Given the description of an element on the screen output the (x, y) to click on. 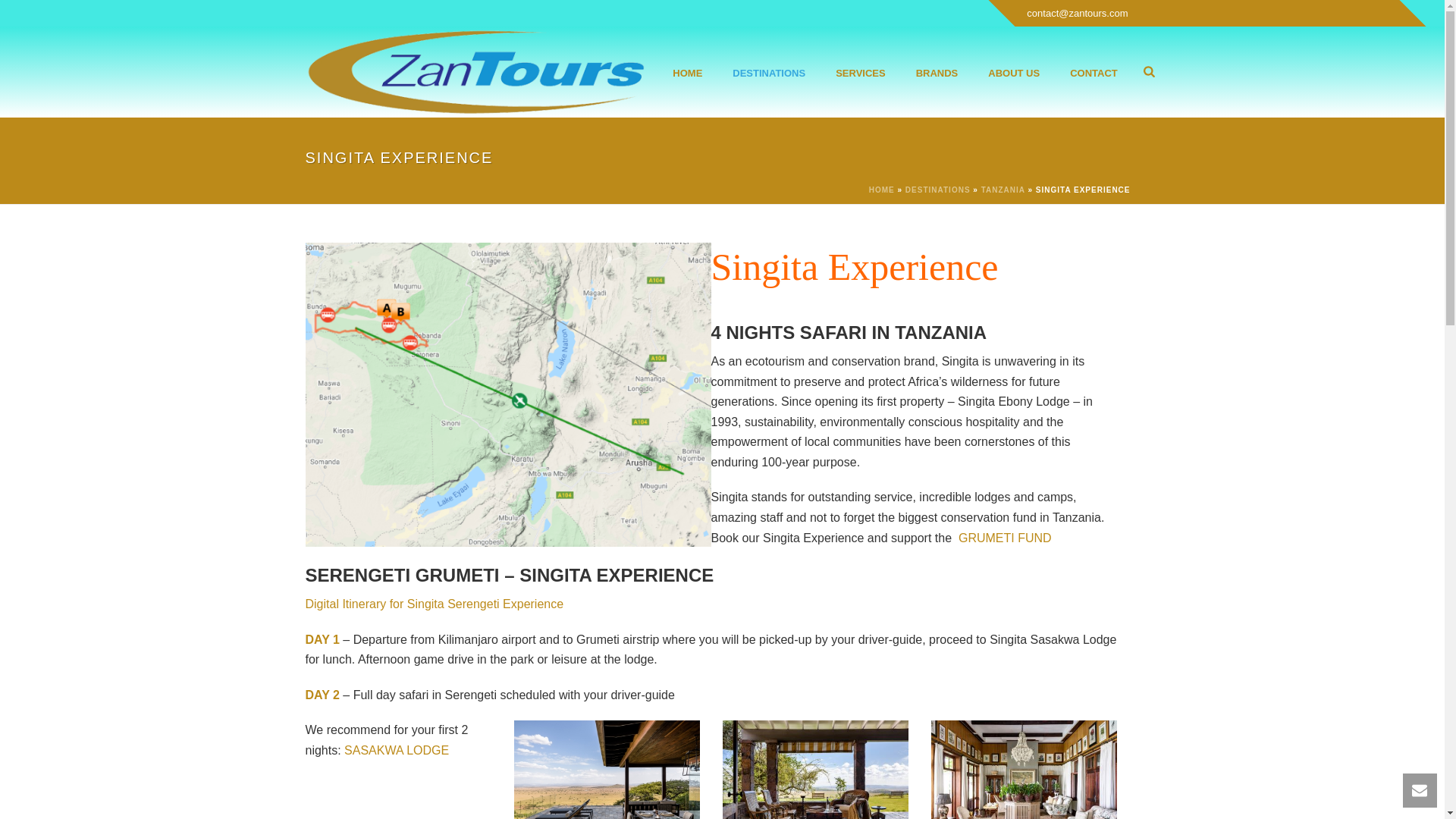
DESTINATIONS (769, 71)
ZanTours Singita Experience Serengeti (507, 394)
ABOUT US (1013, 71)
Singita Sasakwa Lodge (1023, 769)
Sasakwa Lodge Serengeti (814, 769)
ABOUT US (1013, 71)
Sasakwa Lodge Hillside Suite (606, 769)
DESTINATIONS (769, 71)
The Leading Destination Management Company on Zanzibar (475, 71)
